Given the description of an element on the screen output the (x, y) to click on. 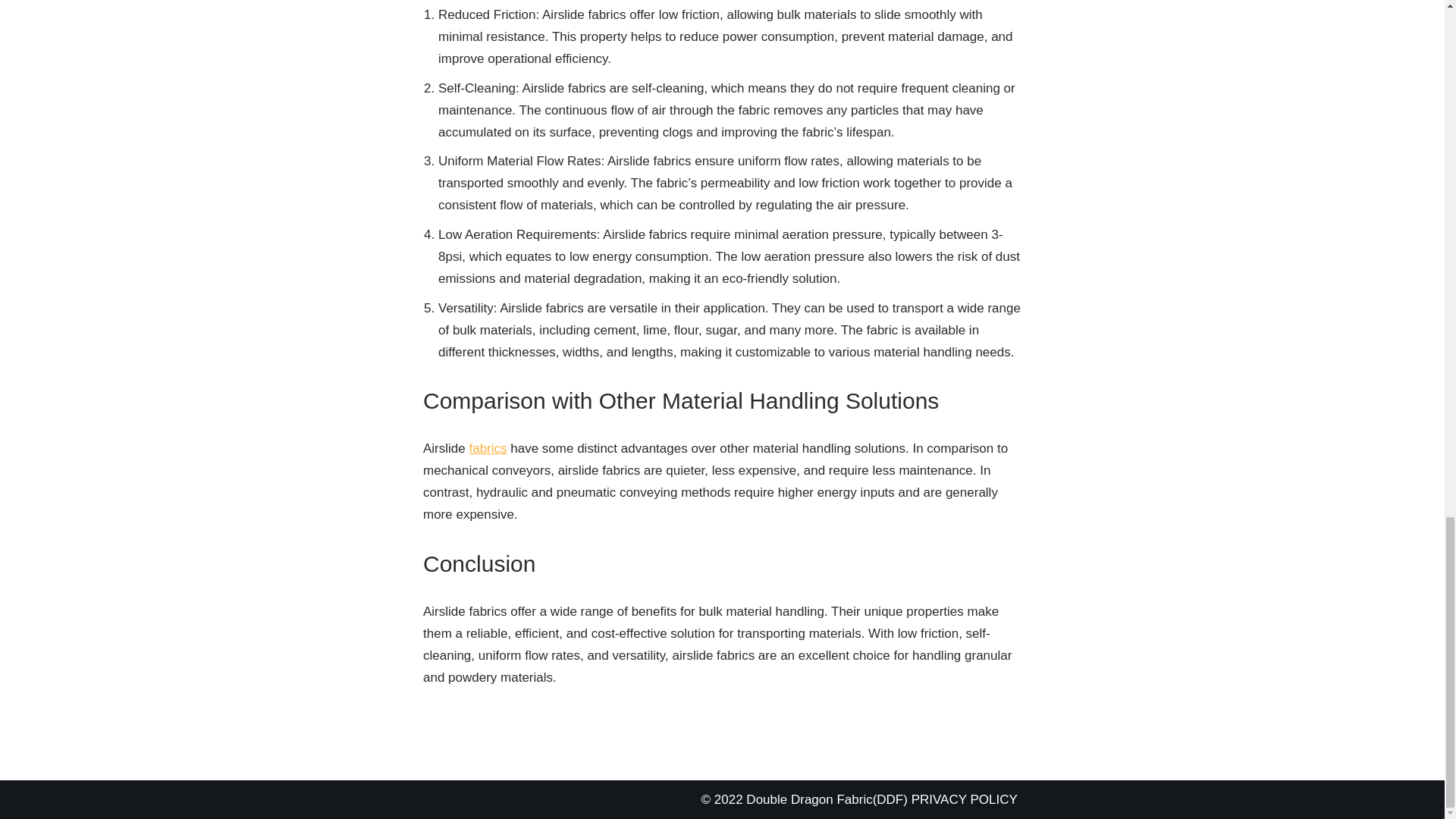
fabrics (487, 448)
PRIVACY POLICY (964, 799)
